Given the description of an element on the screen output the (x, y) to click on. 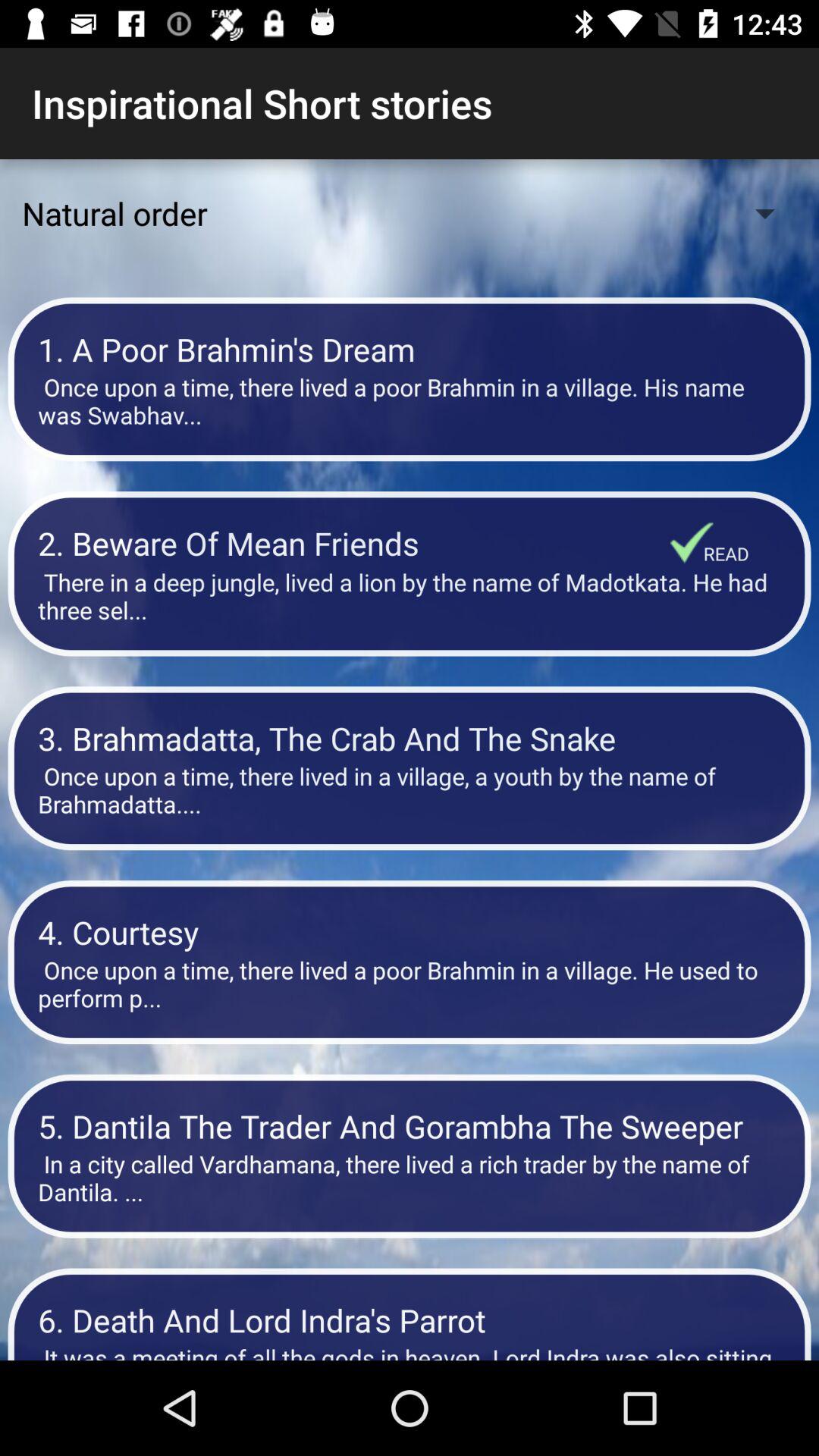
tap the icon next to 2 beware of icon (726, 553)
